Given the description of an element on the screen output the (x, y) to click on. 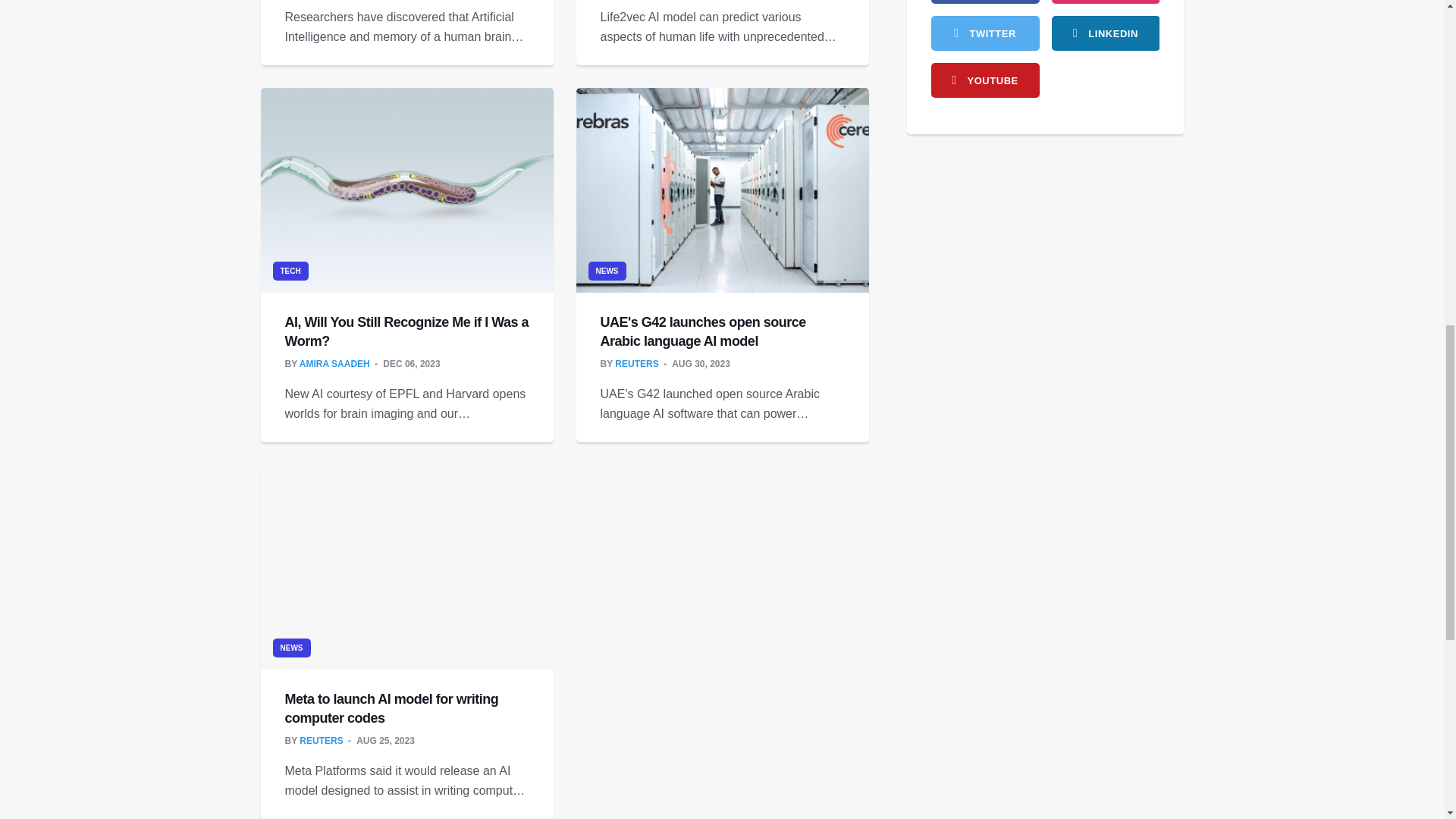
youtube (985, 80)
facebook (985, 2)
twitter (985, 32)
rss (1104, 32)
instagram (1104, 2)
